Given the description of an element on the screen output the (x, y) to click on. 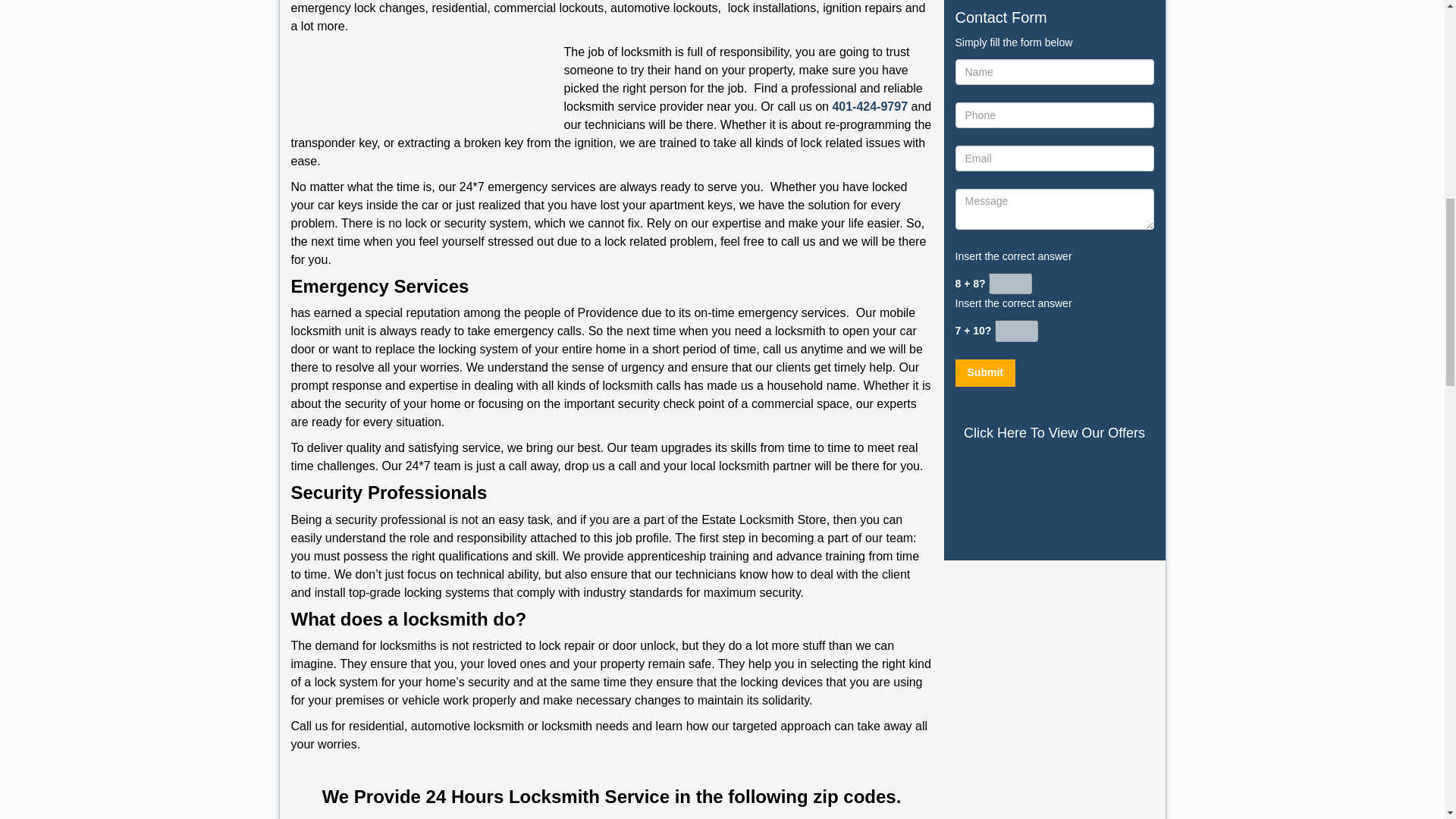
Email Field required (1054, 158)
Submit (984, 372)
401-424-9797 (869, 106)
Message Field require (1054, 209)
Name Field required (1054, 71)
Phone Field required (1054, 114)
Submit (984, 372)
Click Here To View Our Offers (1053, 433)
